Given the description of an element on the screen output the (x, y) to click on. 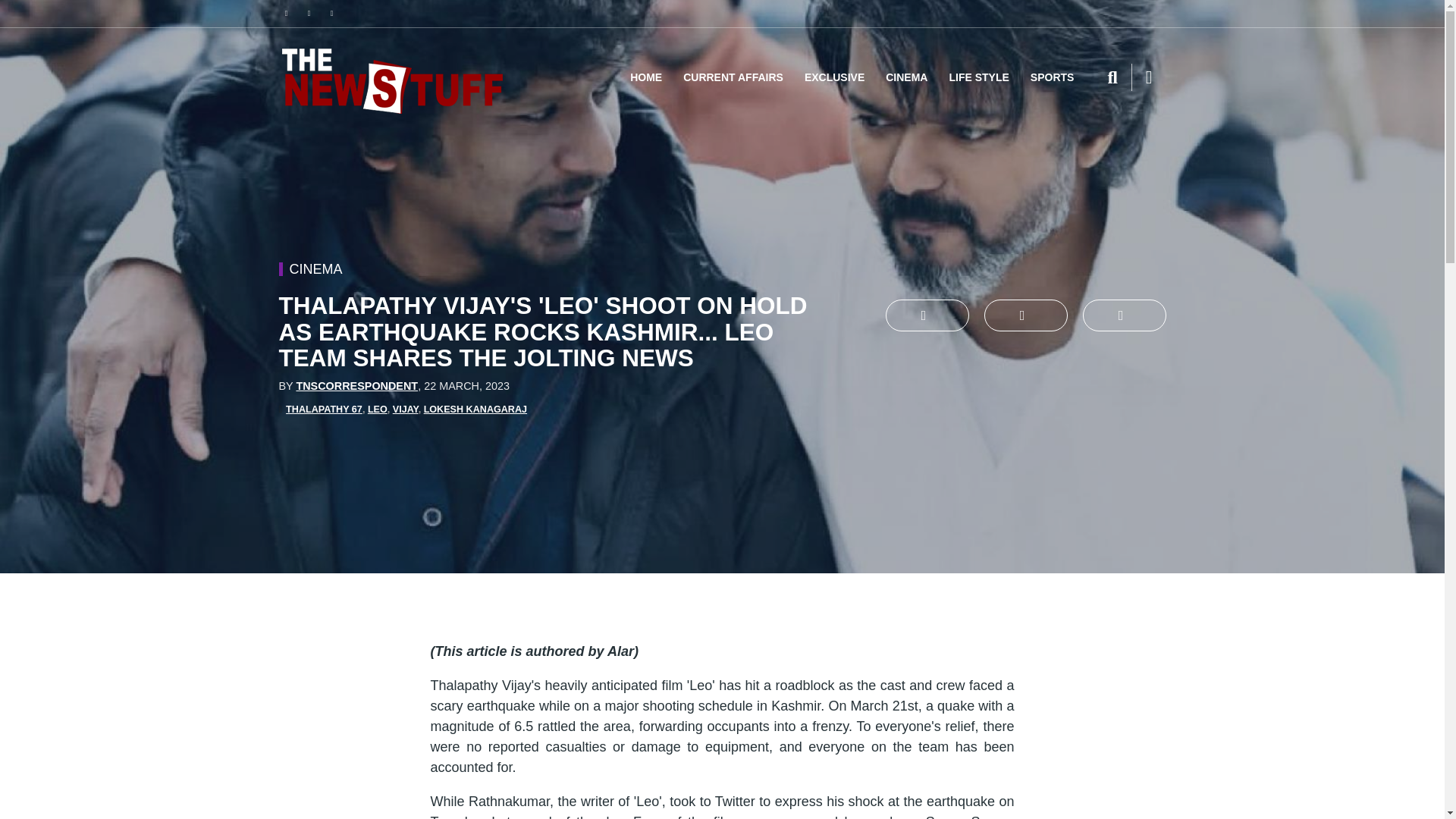
CURRENT AFFAIRS (732, 77)
View user profile. (356, 386)
Share on Whatsapp (1124, 315)
HOME (646, 77)
VIJAY (406, 409)
Home (392, 77)
EXCLUSIVE (834, 77)
Share on Twitter (927, 315)
TNSCORRESPONDENT (356, 386)
SPORTS (1052, 77)
LEO (377, 409)
THALAPATHY 67 (323, 409)
Share on Facebook (1025, 315)
CINEMA (906, 77)
CINEMA (315, 268)
